Given the description of an element on the screen output the (x, y) to click on. 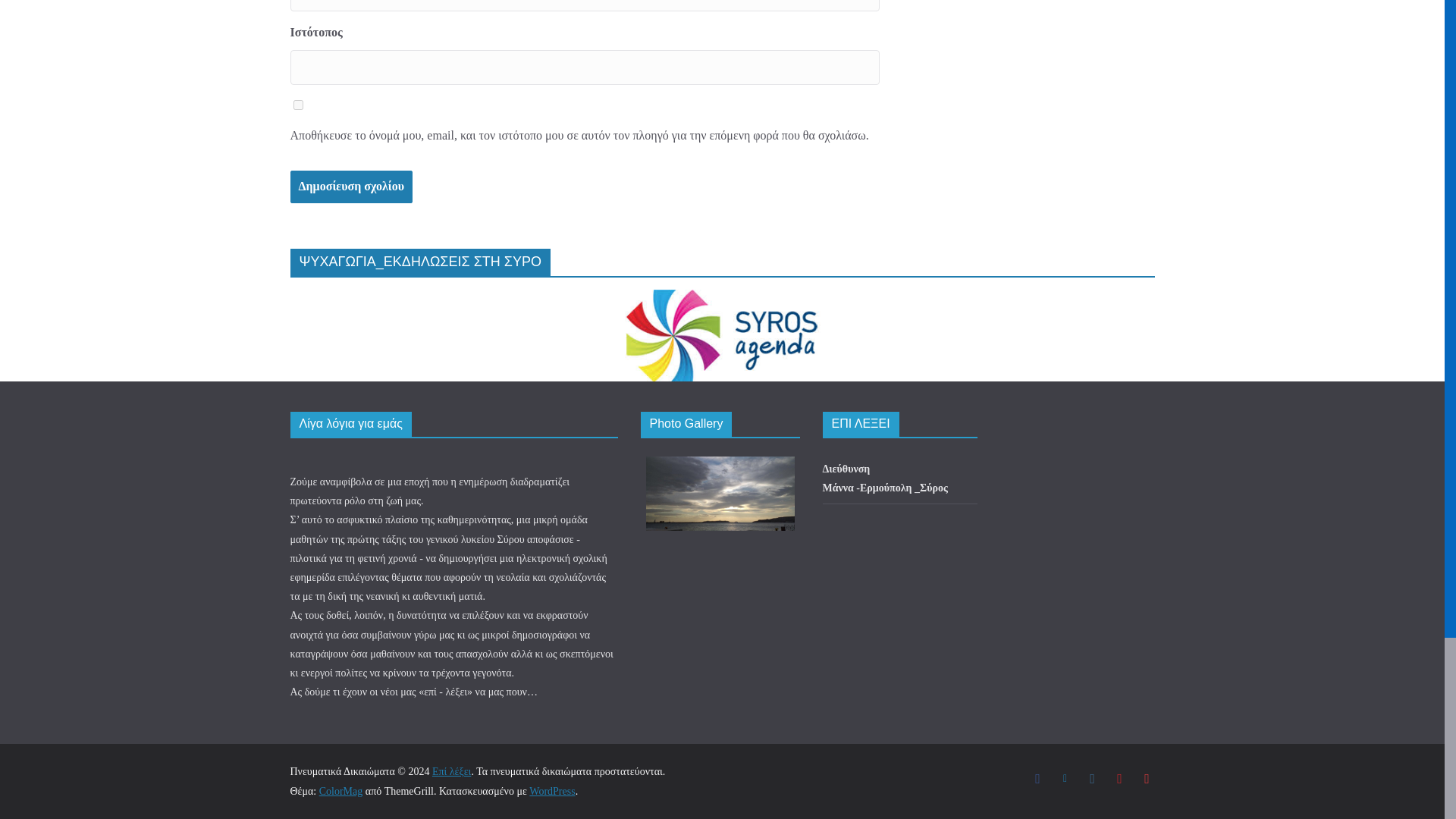
yes (297, 104)
